Given the description of an element on the screen output the (x, y) to click on. 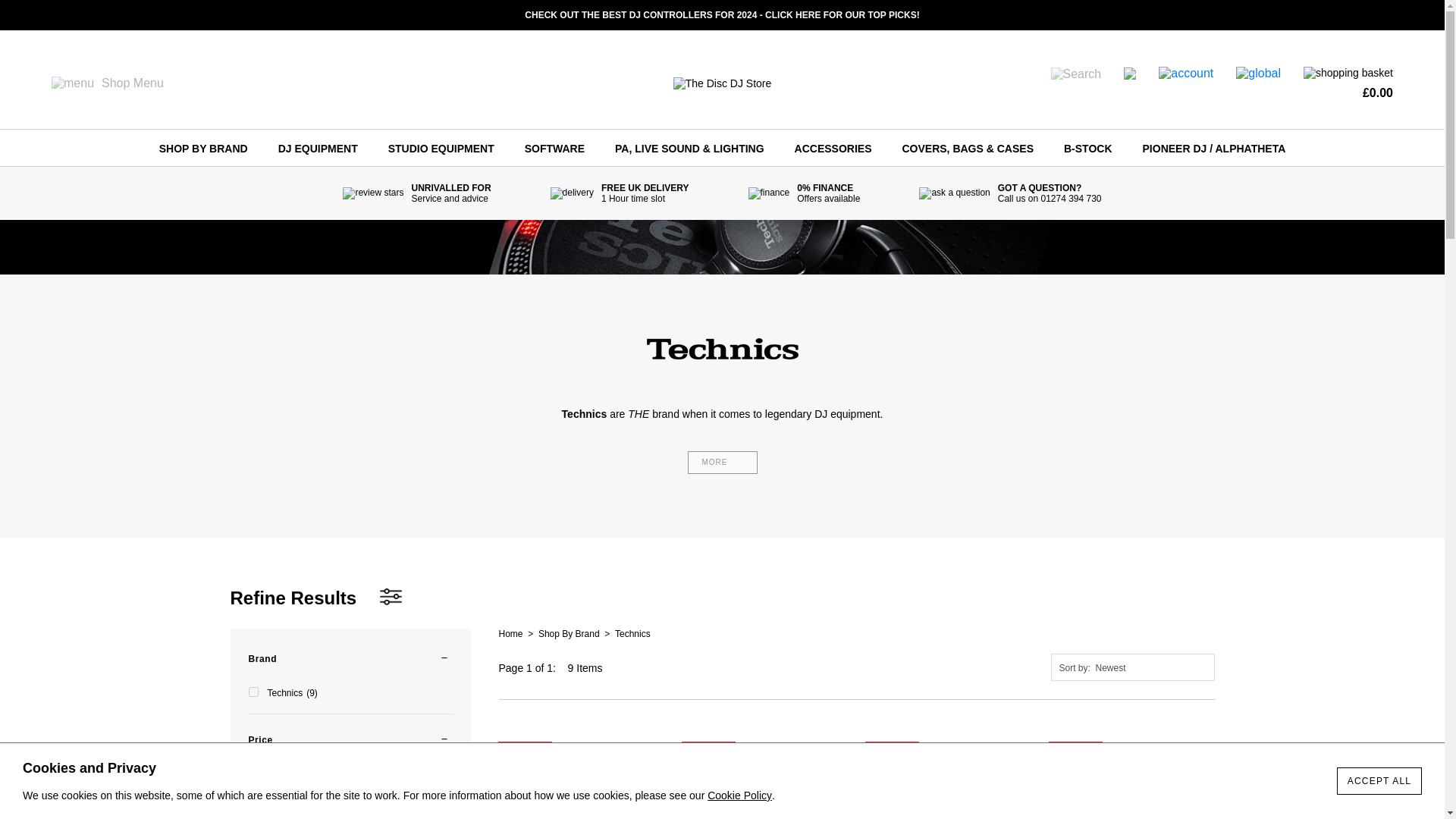
Home (510, 633)
MORE (722, 461)
Shop By Brand (568, 633)
Minimise (345, 739)
Minimise (345, 657)
